Given the description of an element on the screen output the (x, y) to click on. 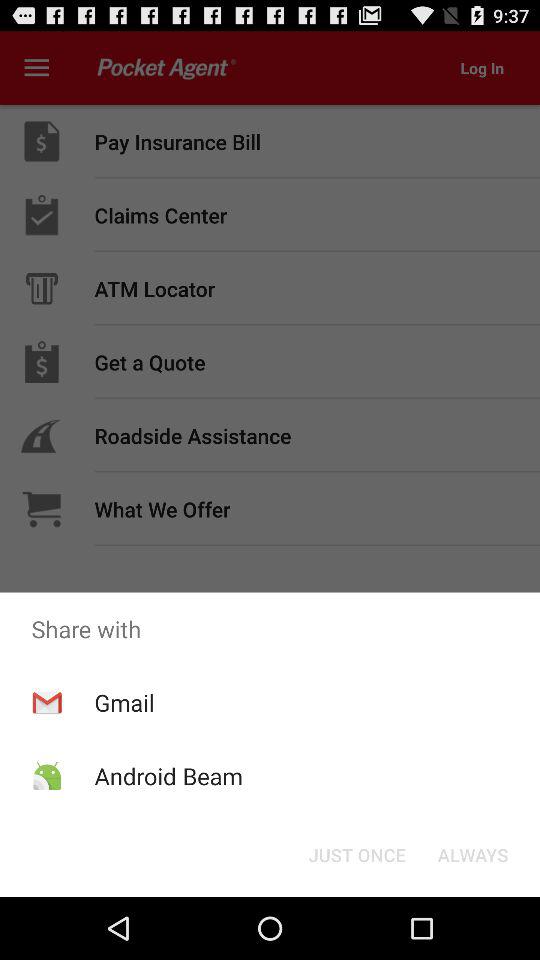
choose button next to the just once icon (472, 854)
